Given the description of an element on the screen output the (x, y) to click on. 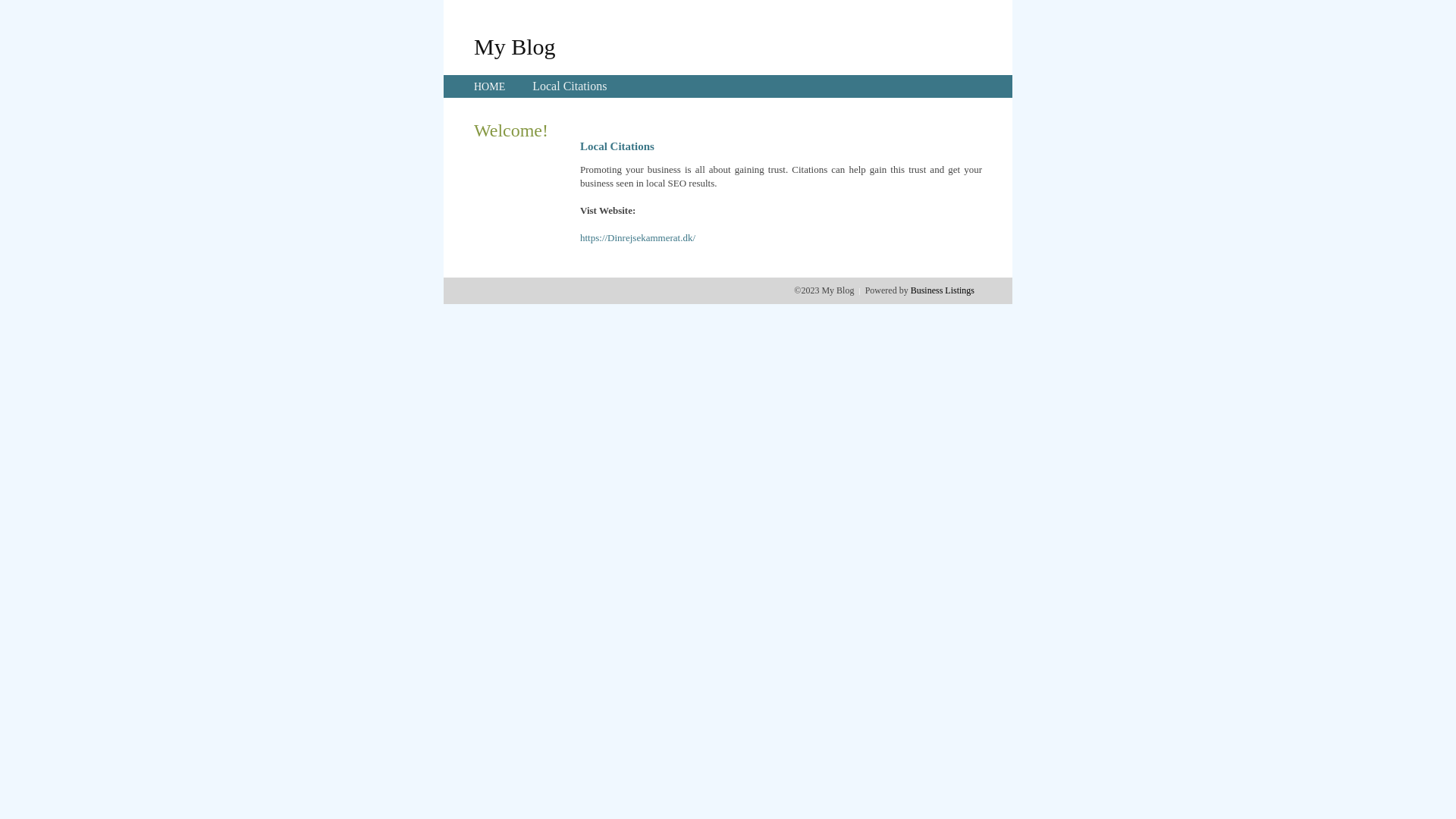
Business Listings Element type: text (942, 290)
https://Dinrejsekammerat.dk/ Element type: text (637, 237)
My Blog Element type: text (514, 46)
HOME Element type: text (489, 86)
Local Citations Element type: text (569, 85)
